Given the description of an element on the screen output the (x, y) to click on. 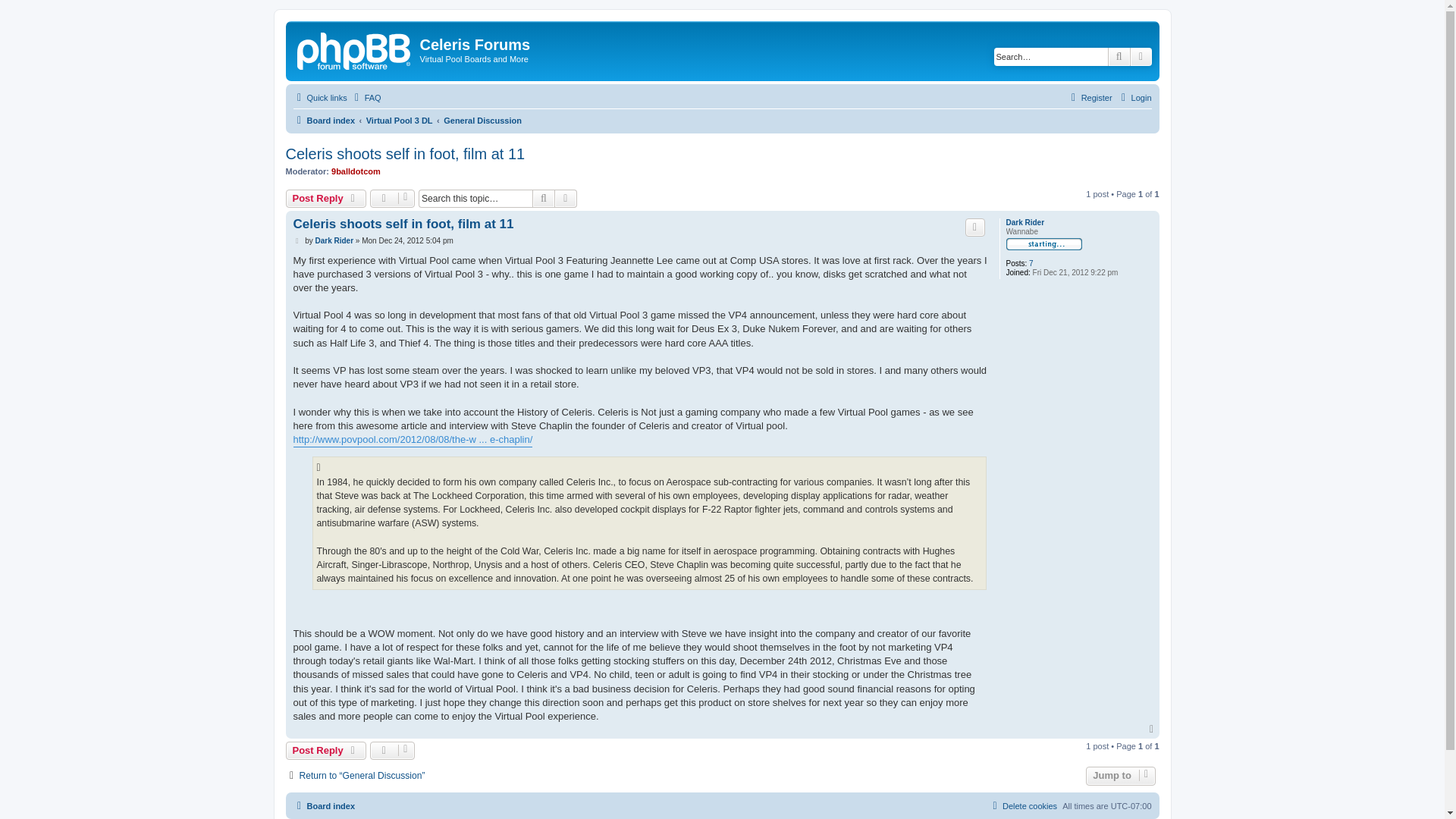
Virtual Pool 3 DL (399, 120)
Post (297, 240)
Post a reply (325, 198)
Search (543, 198)
FAQ (365, 97)
Dark Rider (333, 240)
General Discussion (482, 120)
Celeris shoots self in foot, film at 11 (402, 223)
Search (1119, 56)
Register (1089, 97)
